Given the description of an element on the screen output the (x, y) to click on. 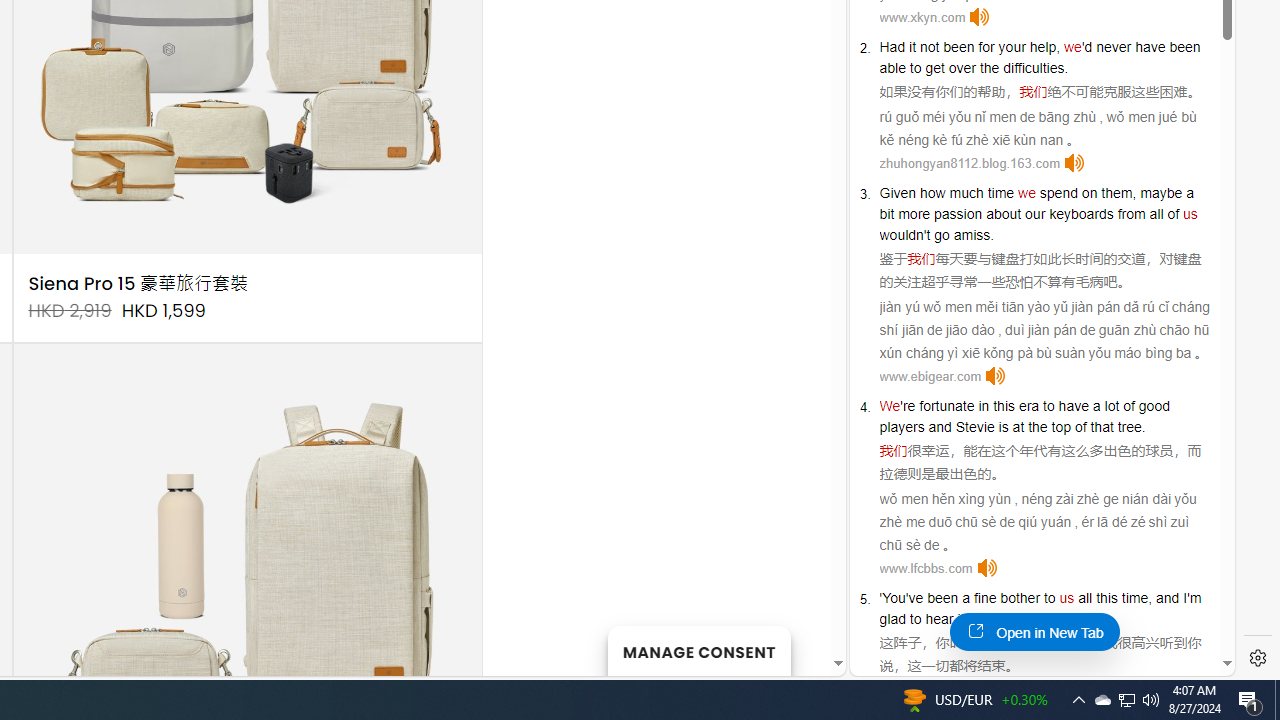
' (881, 597)
lot (1111, 405)
help (1043, 46)
all (1085, 597)
your (1012, 46)
have (1073, 405)
is (1003, 426)
top (1060, 426)
